Given the description of an element on the screen output the (x, y) to click on. 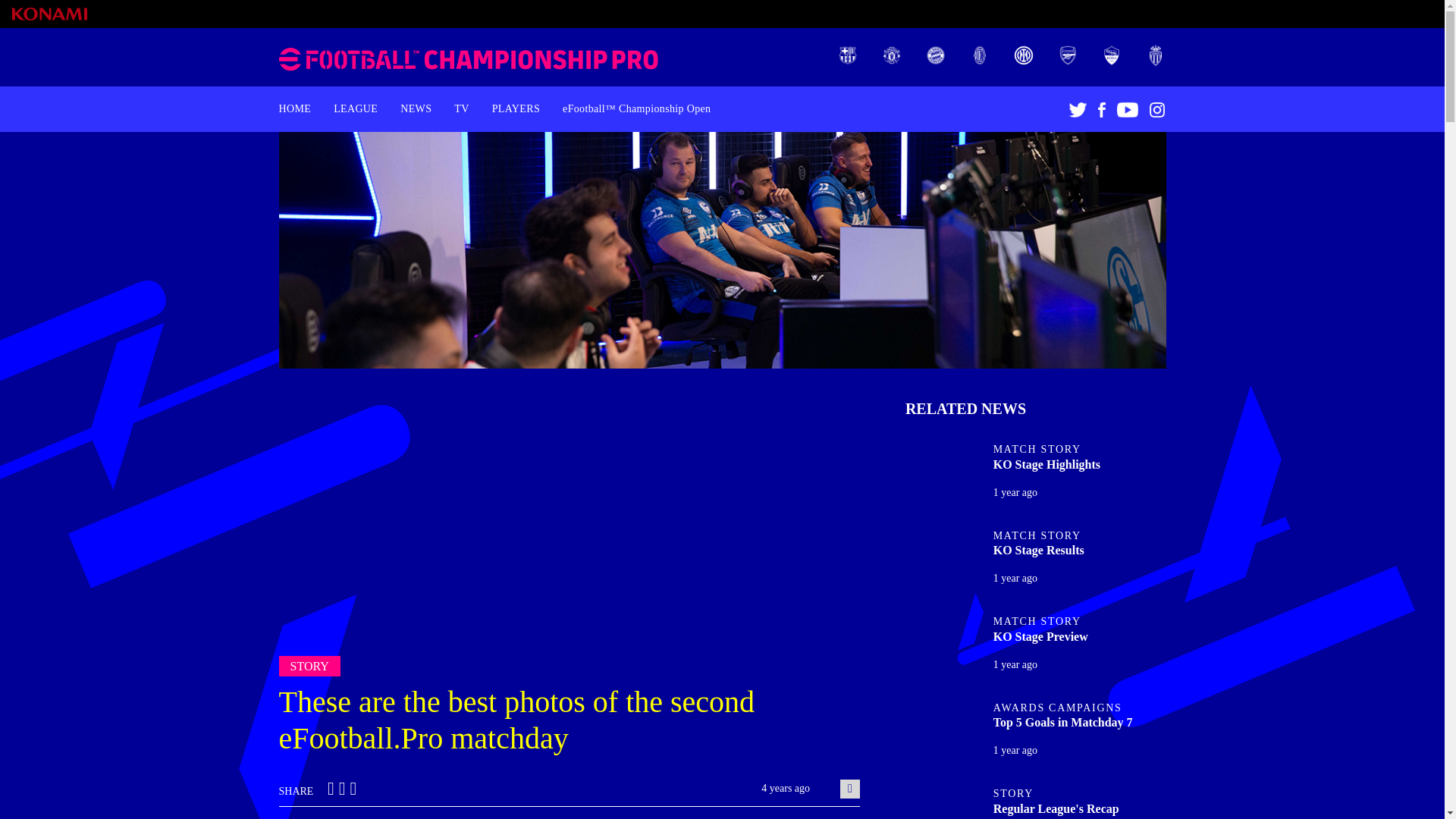
FC Inter (1023, 53)
Manchester United (891, 53)
NEWS (415, 108)
LEAGUE (354, 108)
AS Monaco (1155, 53)
HOME (293, 108)
PLAYERS (515, 108)
AS Roma (1111, 53)
FC Barcelona (848, 53)
Arsenal FC (1067, 53)
